Given the description of an element on the screen output the (x, y) to click on. 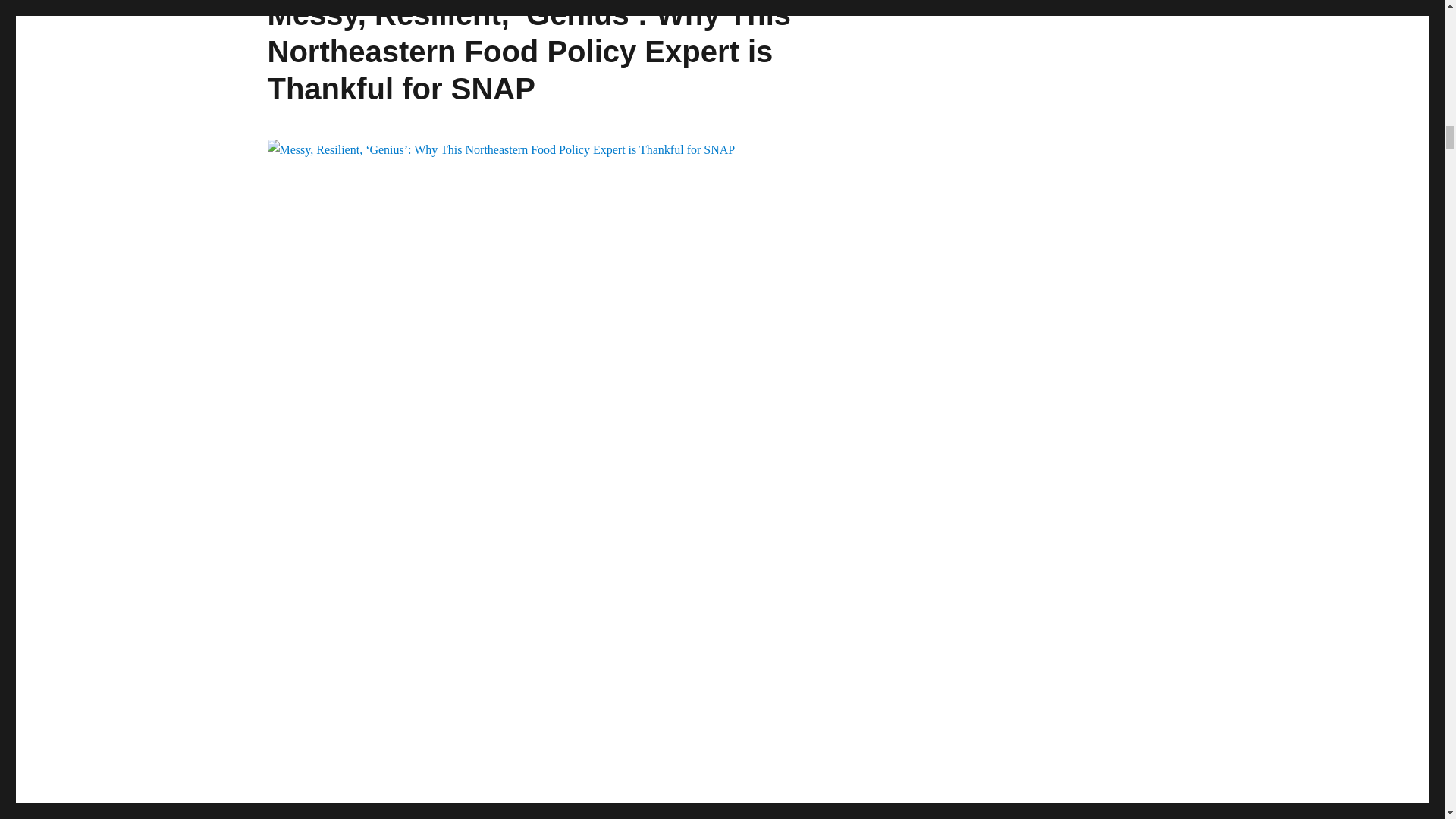
November 21, 2023 (309, 815)
